Given the description of an element on the screen output the (x, y) to click on. 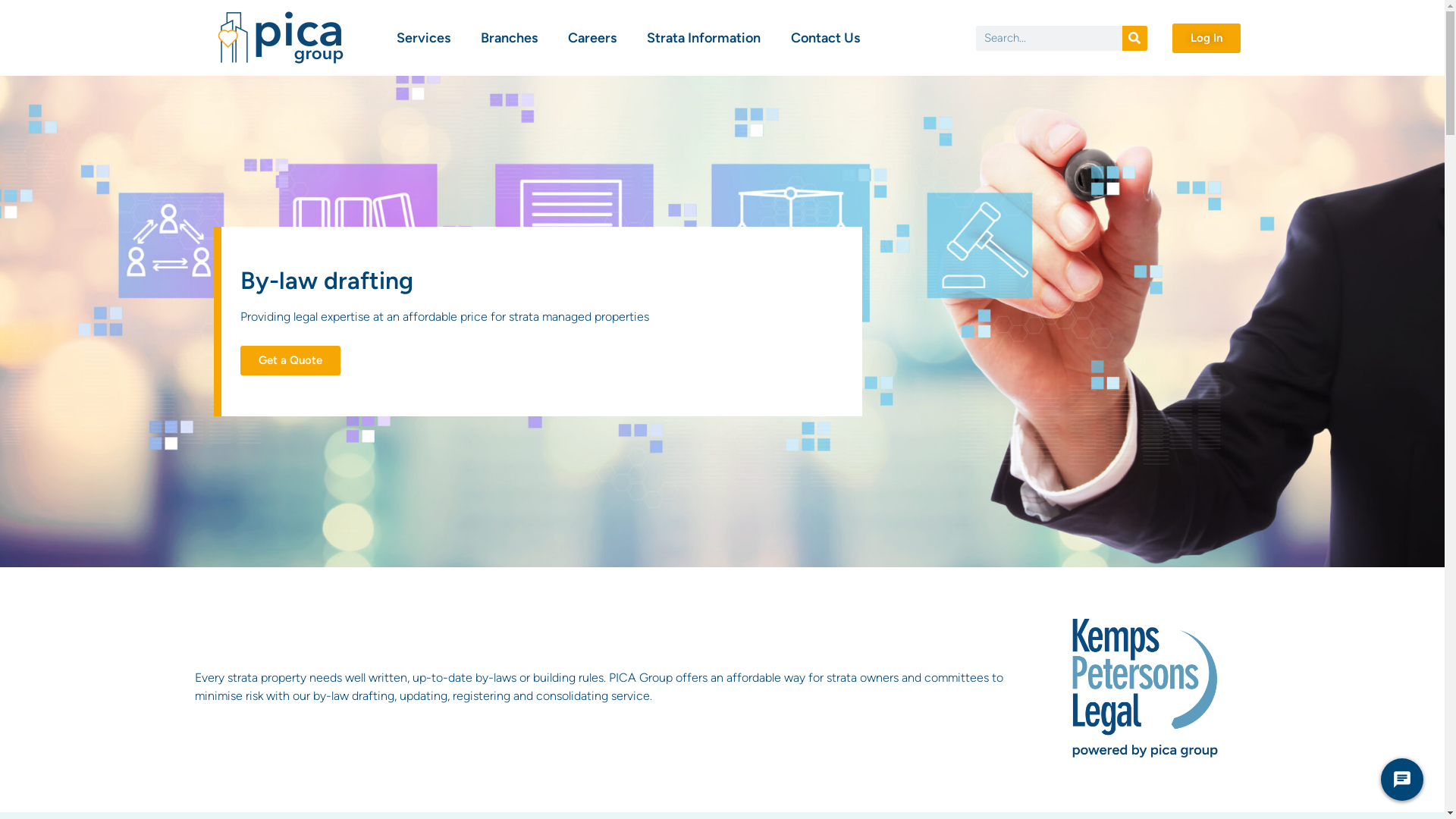
Careers Element type: text (591, 37)
Contact Us Element type: text (824, 37)
Get a Quote Element type: text (290, 360)
Services Element type: text (422, 37)
Branches Element type: text (508, 37)
PICA_Logo_2023 Element type: hover (280, 37)
Log In Element type: text (1206, 37)
Genesys Messenger Launcher Element type: hover (1401, 782)
Strata Information Element type: text (702, 37)
